Given the description of an element on the screen output the (x, y) to click on. 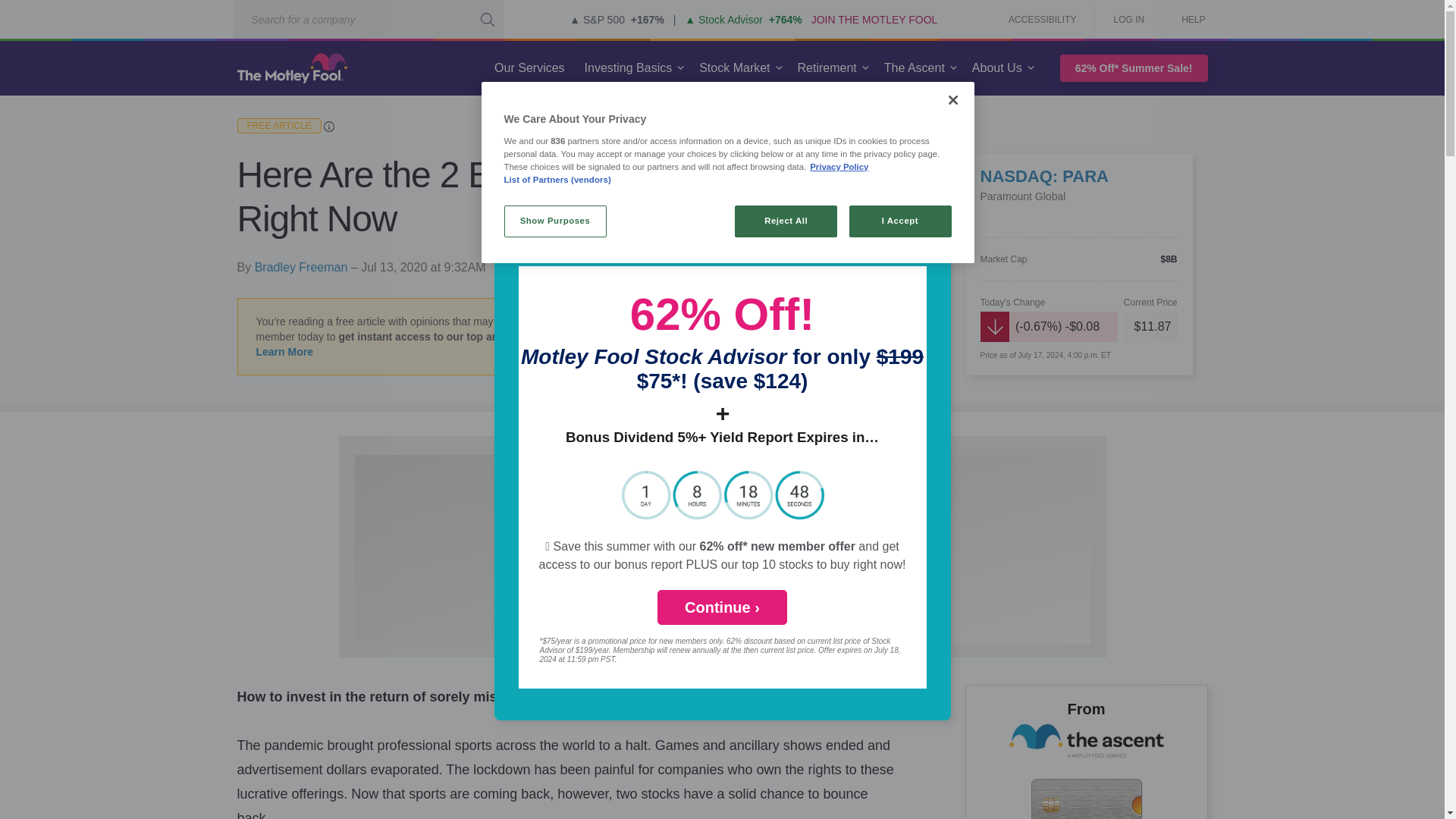
HELP (1187, 19)
LOG IN (1128, 19)
Our Services (528, 67)
Stock Market (734, 67)
Investing Basics (627, 67)
ACCESSIBILITY (1042, 19)
